Given the description of an element on the screen output the (x, y) to click on. 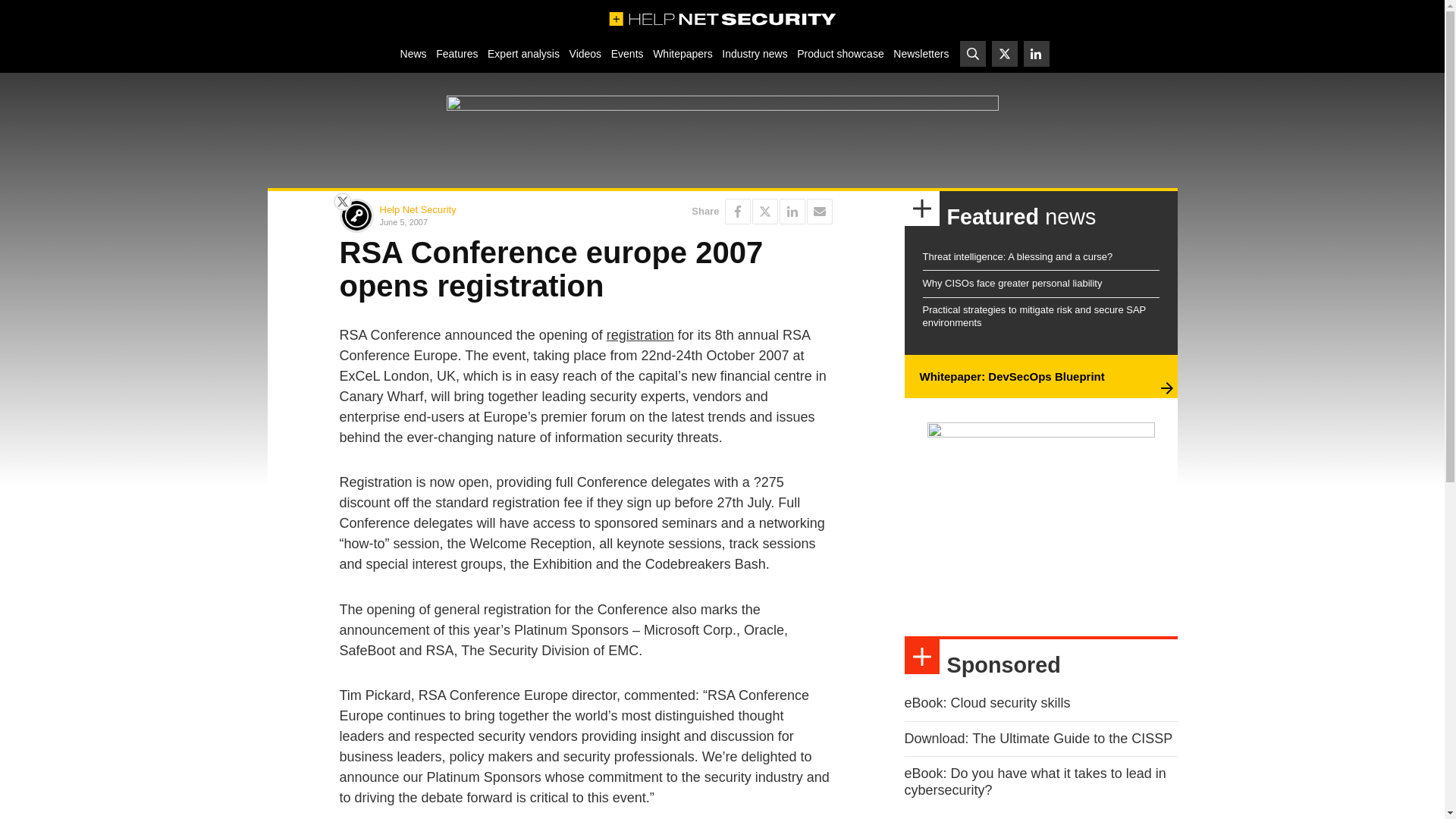
Events (626, 53)
Product showcase (840, 53)
Download: The Ultimate Guide to the CISSP (1038, 738)
Features (456, 53)
Whitepapers (682, 53)
Why CISOs face greater personal liability (1011, 283)
Threat intelligence: A blessing and a curse? (1016, 256)
News (412, 53)
Download: The Ultimate Guide to the CISSP (1038, 738)
Threat intelligence: A blessing and a curse? (1016, 256)
eBook: Cloud security skills (987, 702)
Expert analysis (523, 53)
